Given the description of an element on the screen output the (x, y) to click on. 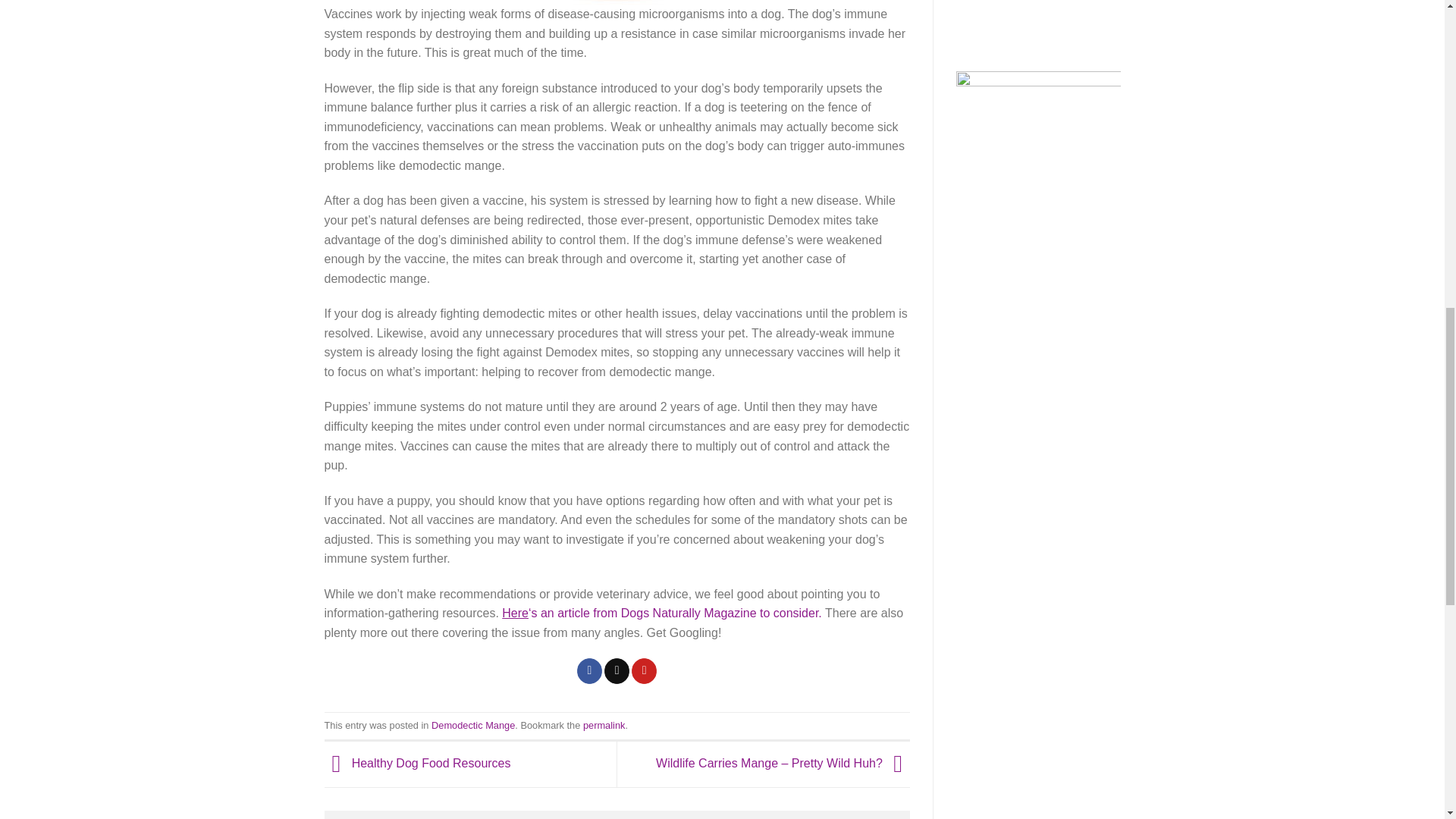
Permalink to Vaccines and Demodicosis (603, 725)
Email to a Friend (616, 670)
Pin on Pinterest (643, 670)
Share on Facebook (589, 670)
